Given the description of an element on the screen output the (x, y) to click on. 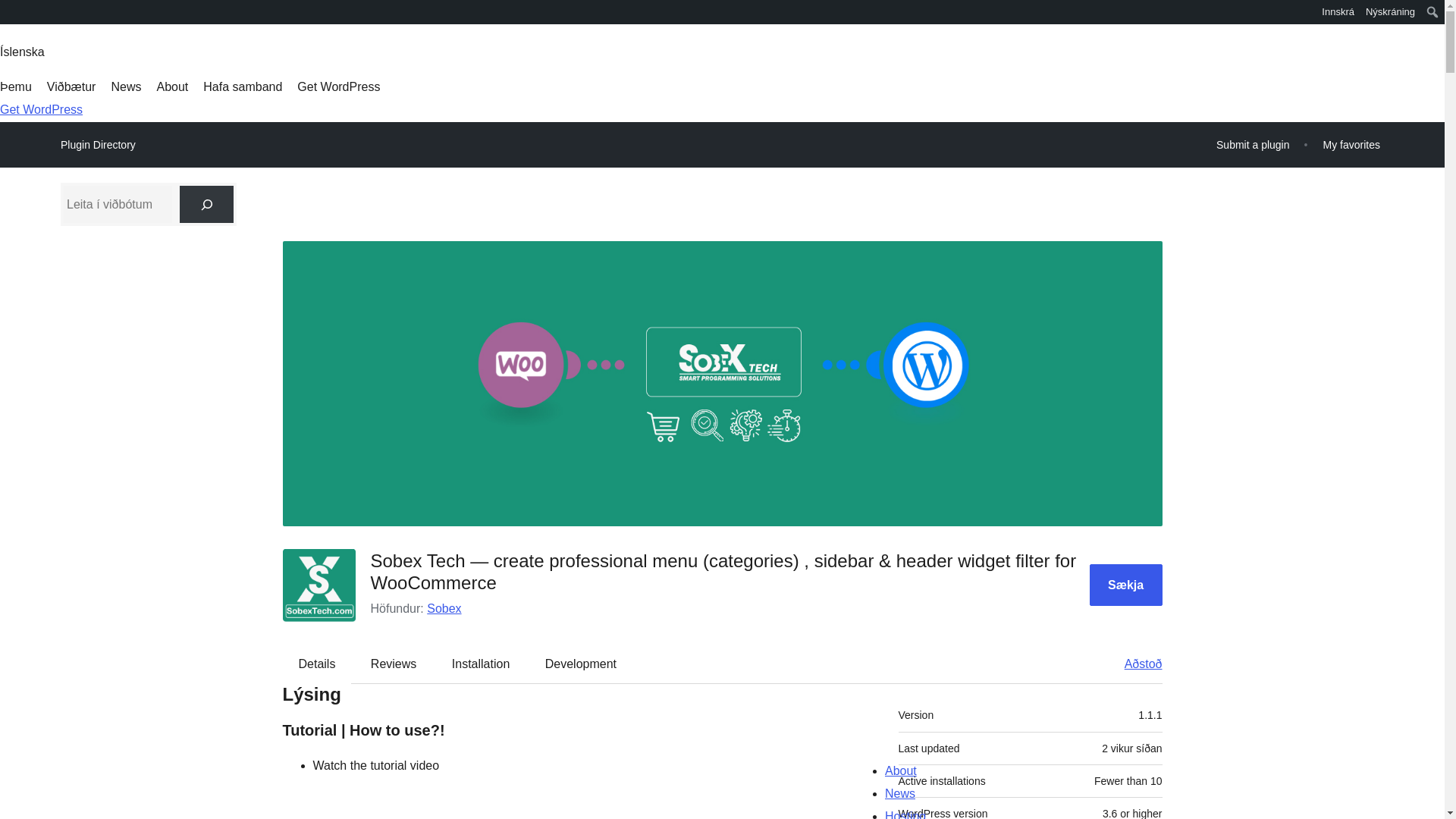
Installation (480, 664)
WordPress.org (10, 10)
Hafa samband (242, 87)
Reviews (392, 664)
My favorites (1351, 144)
WordPress.org (10, 16)
Details (316, 664)
Sobex (443, 608)
About (171, 87)
Get WordPress (41, 109)
